Given the description of an element on the screen output the (x, y) to click on. 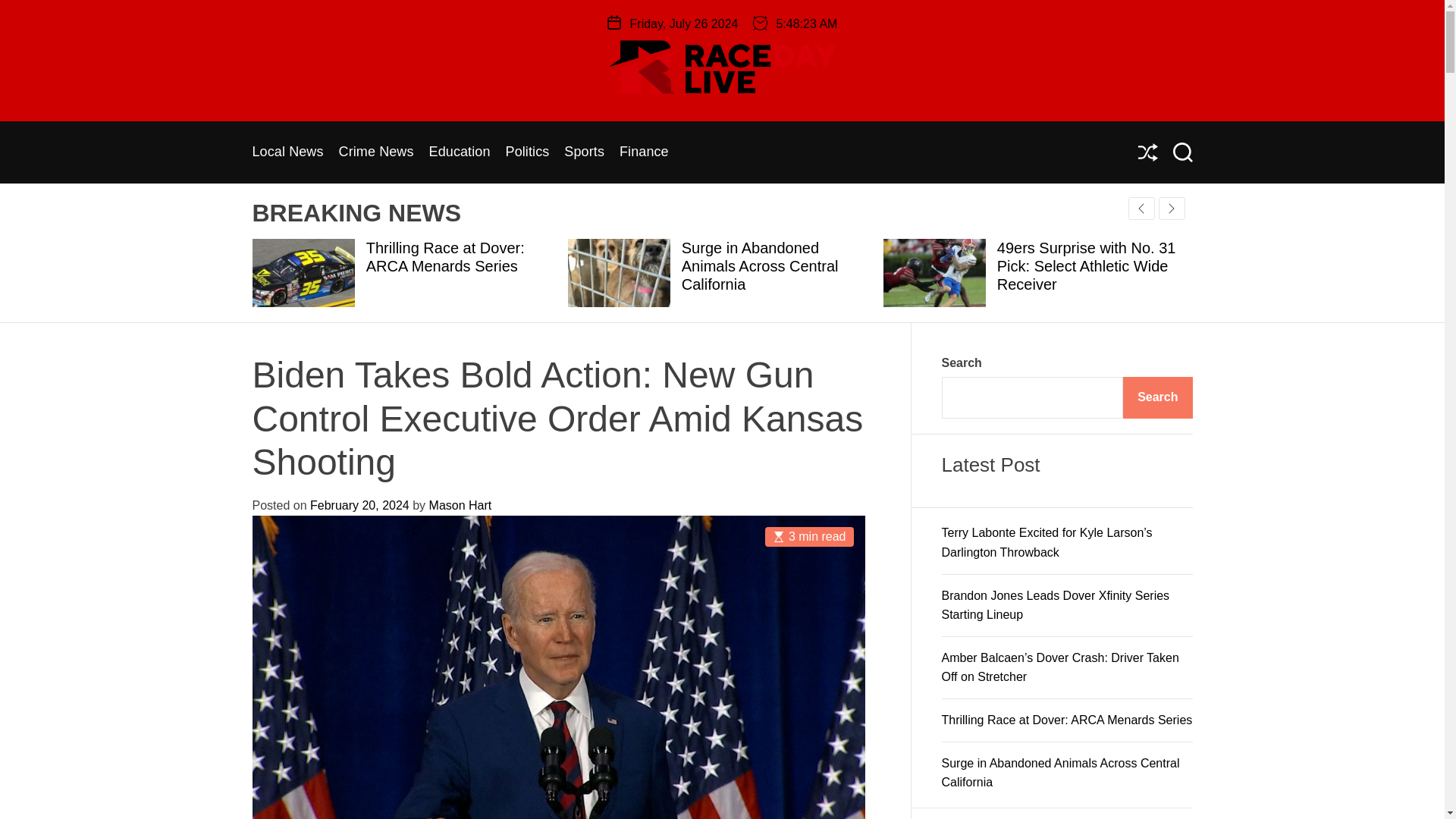
Thrilling Race at Dover: ARCA Menards Series (445, 256)
Surge in Abandoned Animals Across Central California (759, 265)
Search (1182, 152)
Mason Hart (460, 504)
Sports (584, 152)
Crime News (376, 152)
Shuffle (1147, 152)
Finance (644, 152)
Politics (527, 152)
Education (459, 152)
February 20, 2024 (359, 504)
Local News (287, 152)
